Given the description of an element on the screen output the (x, y) to click on. 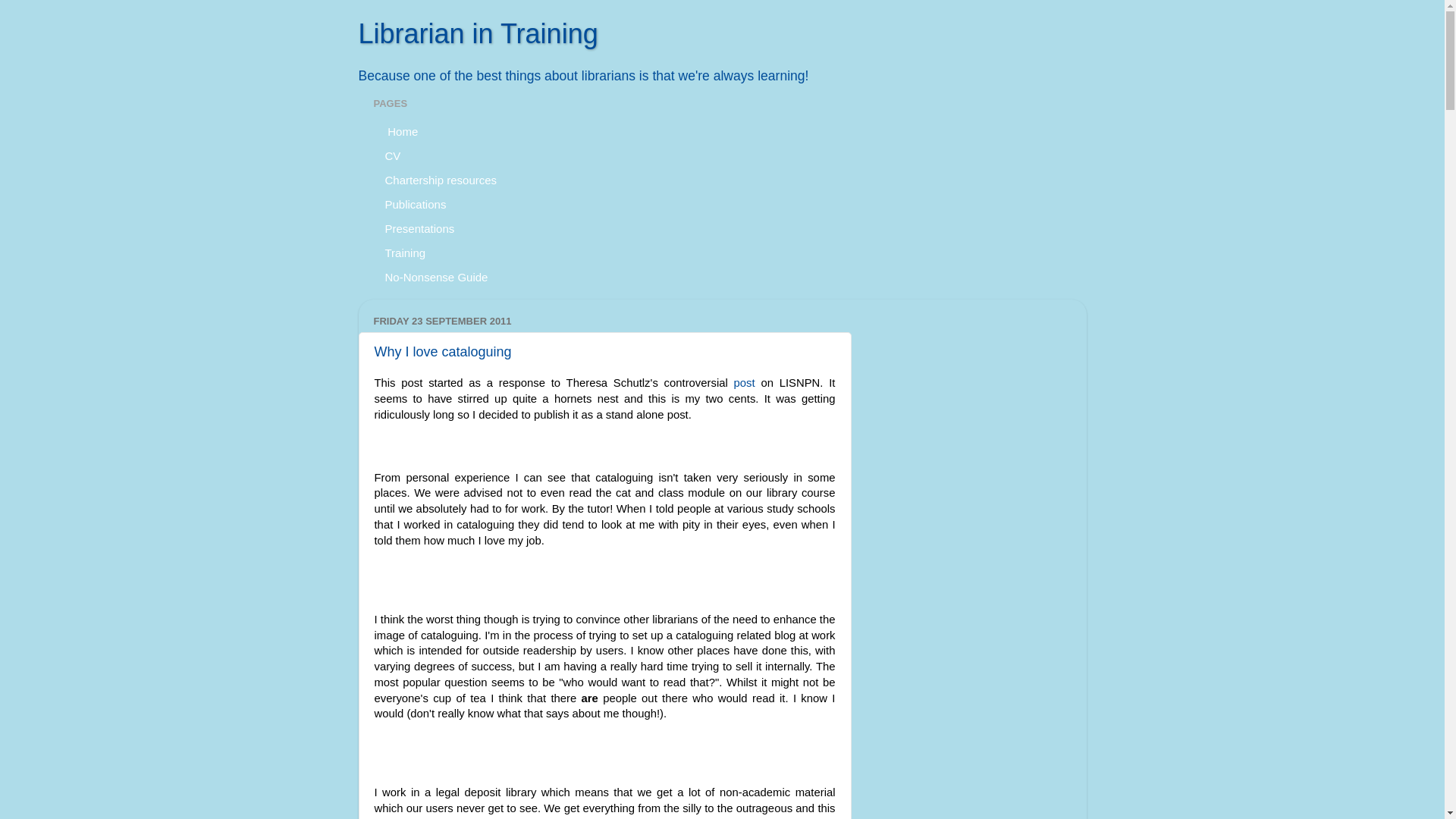
Chartership resources (440, 179)
Training (405, 252)
Why I love cataloguing (443, 351)
No-Nonsense Guide (435, 276)
post (744, 382)
Publications (415, 203)
Librarian in Training (477, 33)
Presentations (418, 228)
Home (400, 130)
CV (392, 155)
